Given the description of an element on the screen output the (x, y) to click on. 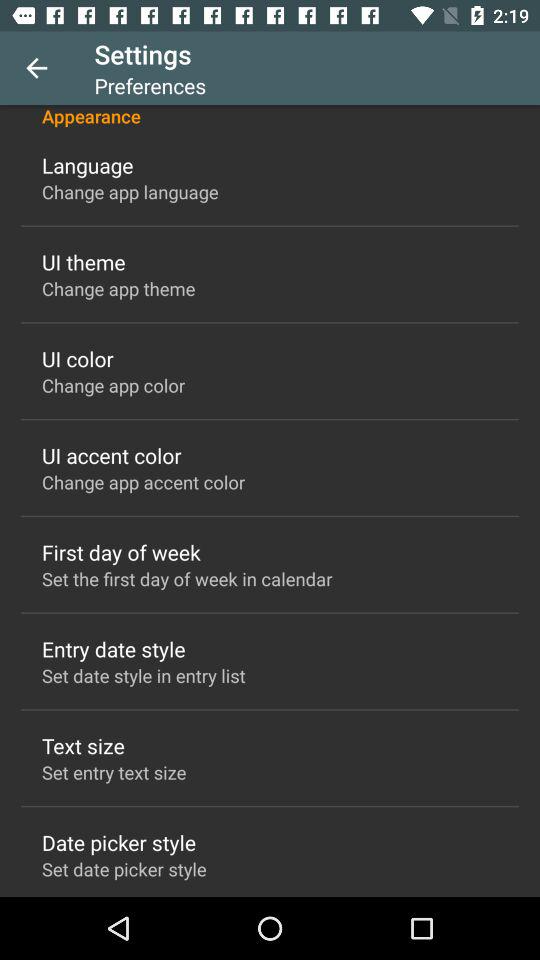
open the item below first day of icon (187, 578)
